Given the description of an element on the screen output the (x, y) to click on. 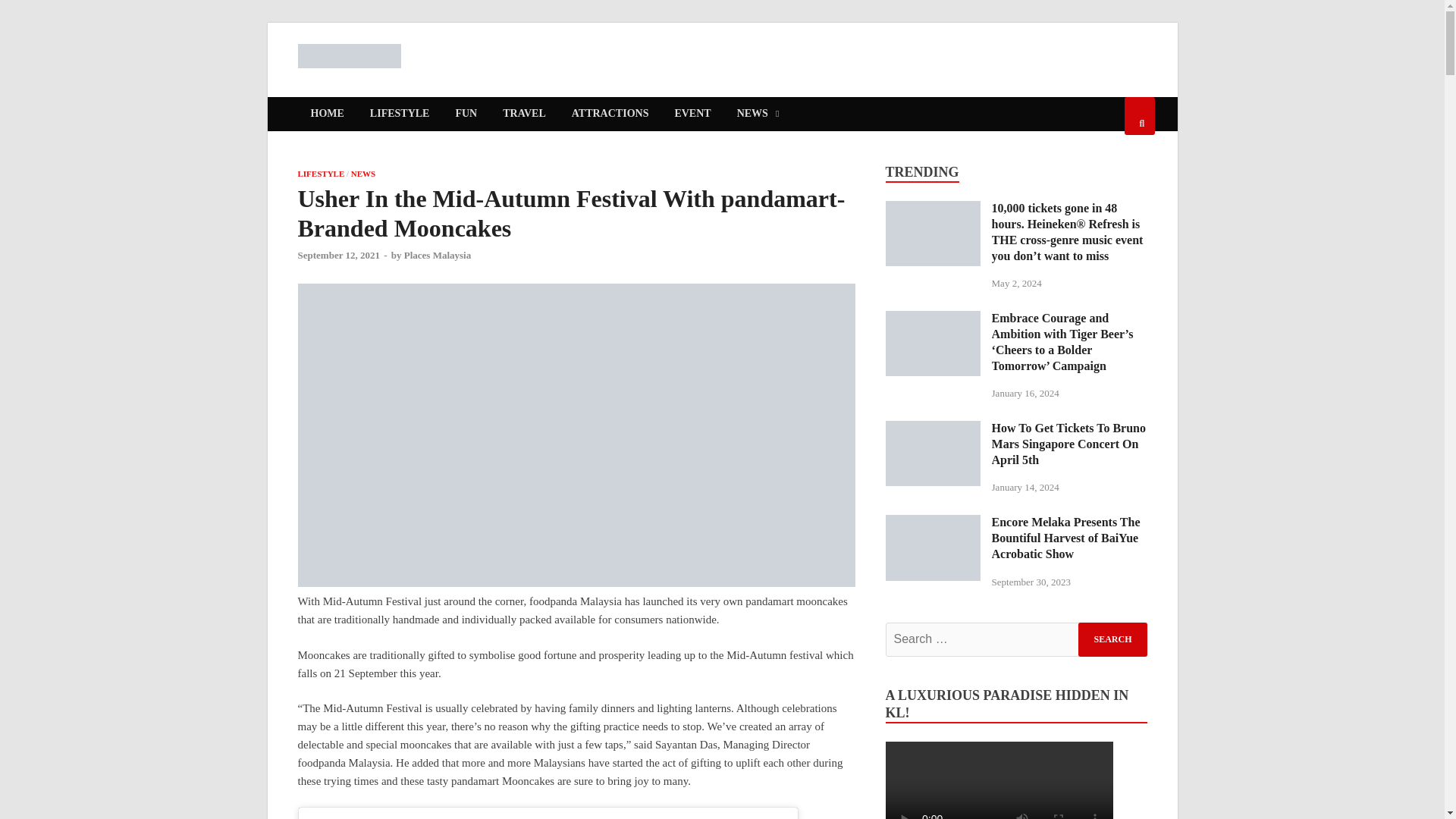
NEWS (757, 114)
ATTRACTIONS (610, 114)
September 12, 2021 (337, 255)
LIFESTYLE (399, 114)
HOME (326, 114)
LIFESTYLE (320, 173)
Search (1112, 639)
Search (1112, 639)
EVENT (692, 114)
